Given the description of an element on the screen output the (x, y) to click on. 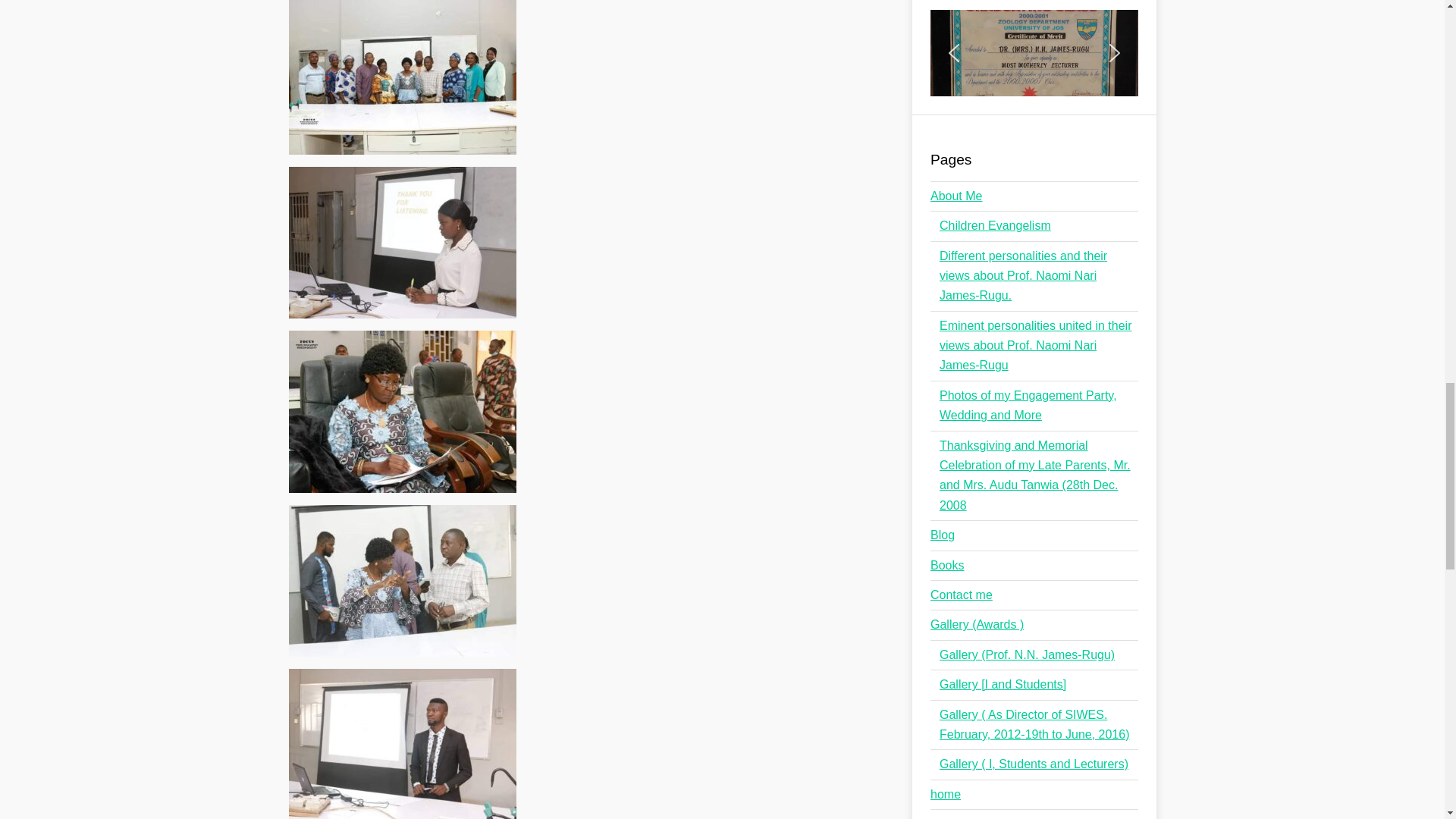
Children Evangelism (995, 225)
About Me (955, 195)
